Given the description of an element on the screen output the (x, y) to click on. 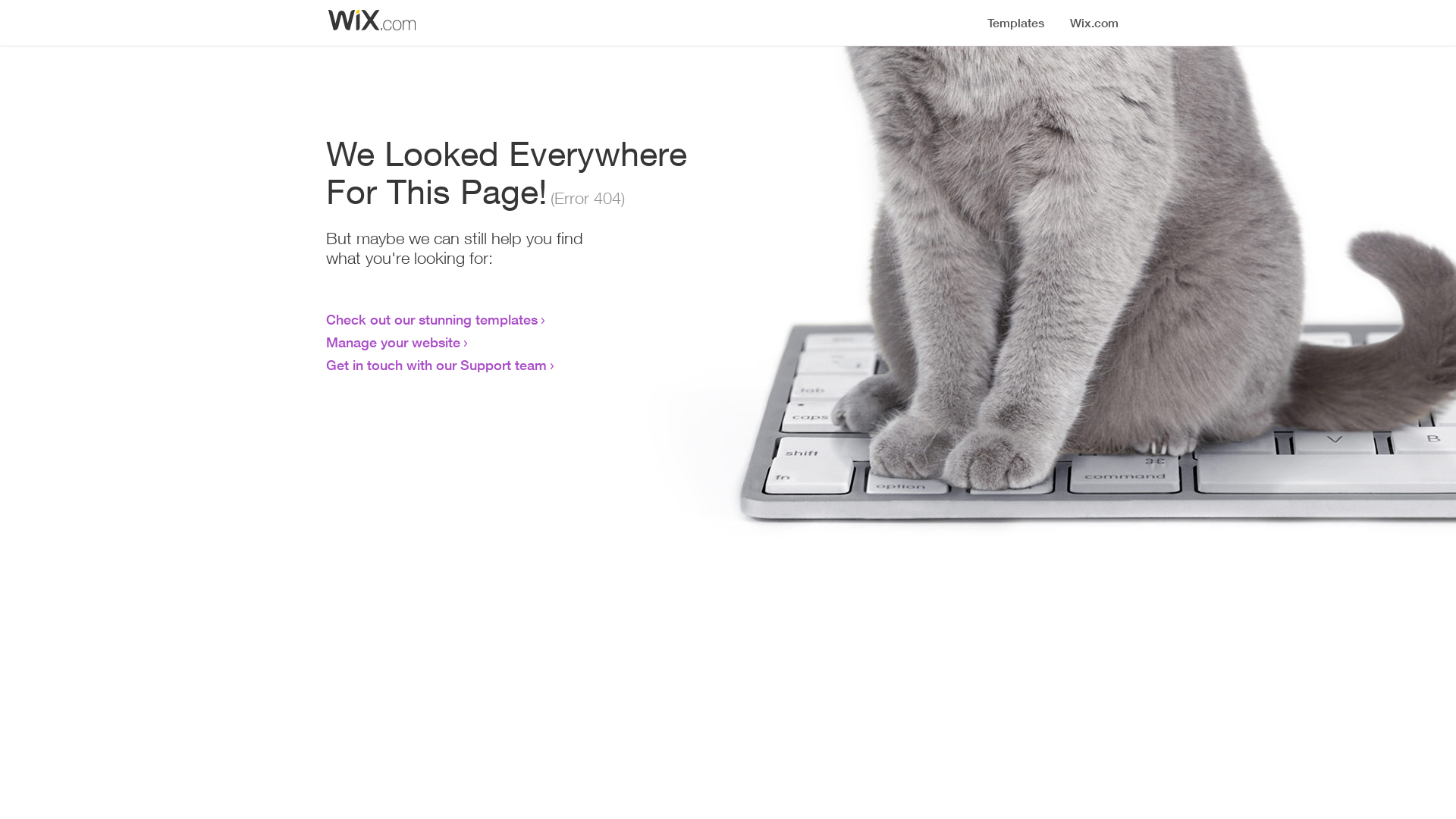
Manage your website Element type: text (393, 341)
Check out our stunning templates Element type: text (431, 318)
Get in touch with our Support team Element type: text (436, 364)
